Given the description of an element on the screen output the (x, y) to click on. 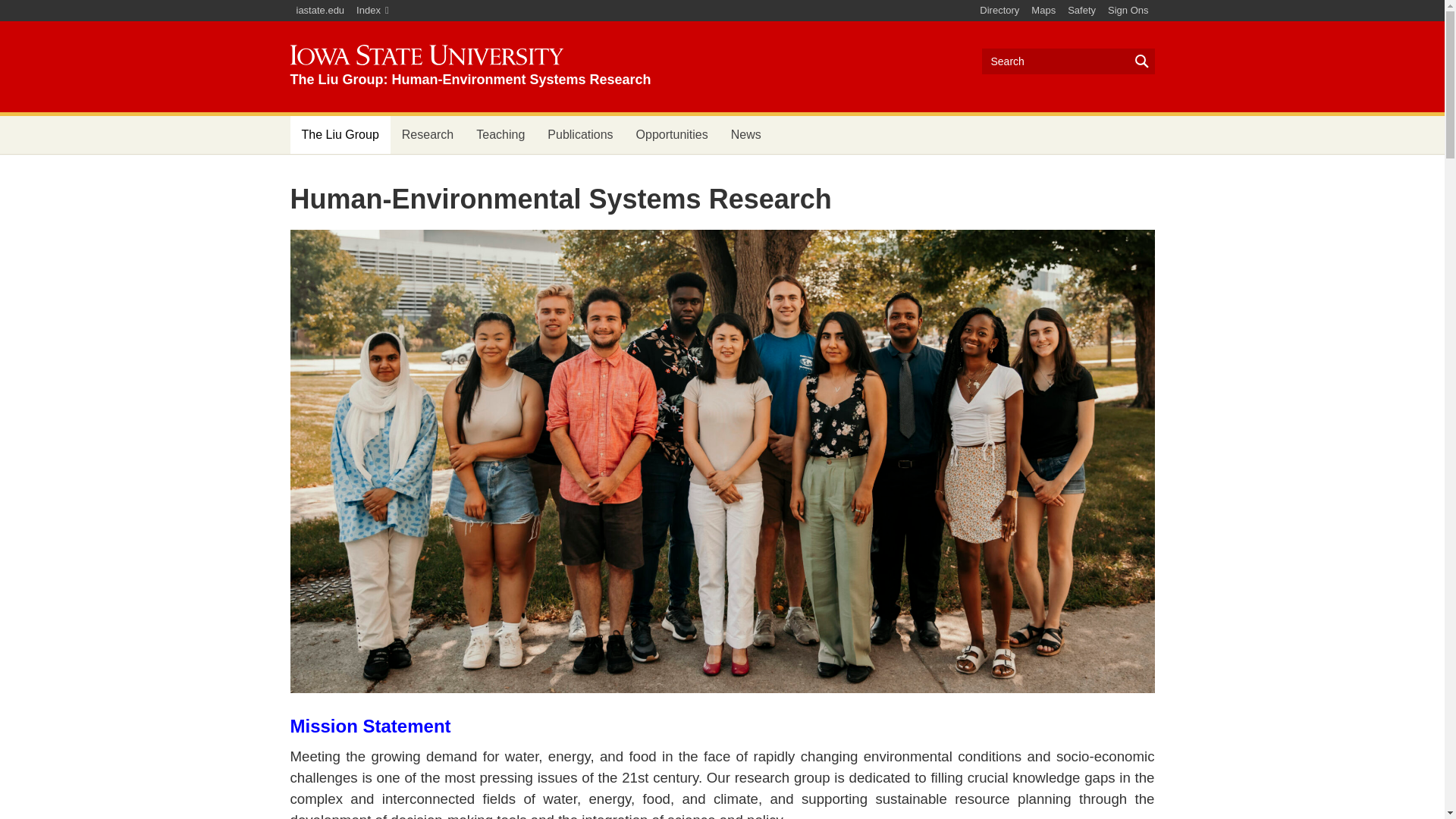
iastate.edu (319, 10)
Home (469, 66)
Index (372, 10)
Research (427, 134)
Search (1067, 61)
Teaching (499, 134)
Sign Ons (1128, 10)
Maps (1043, 10)
Directory (999, 10)
